Given the description of an element on the screen output the (x, y) to click on. 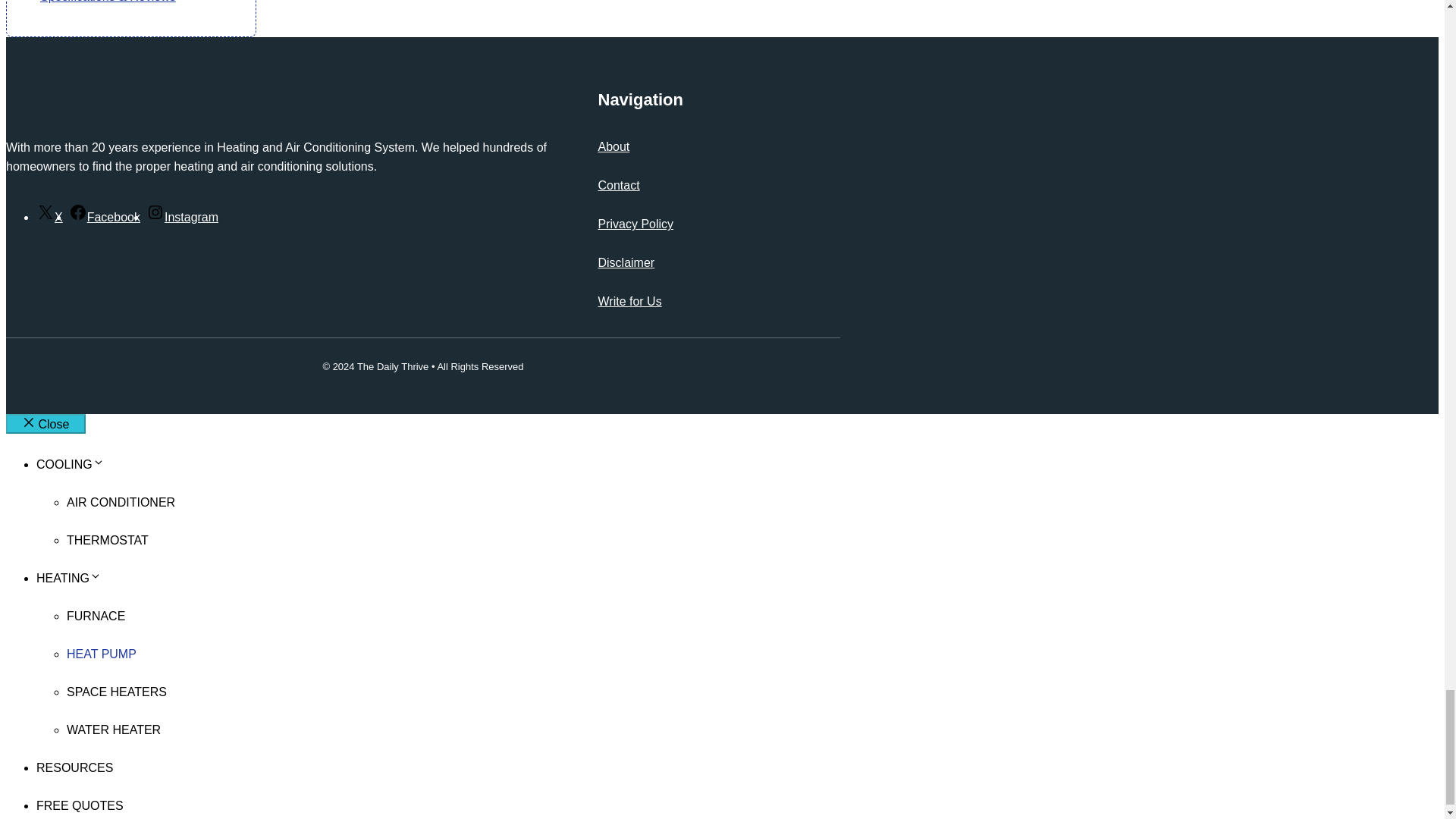
mobile logo thedailythrive (130, 106)
